Given the description of an element on the screen output the (x, y) to click on. 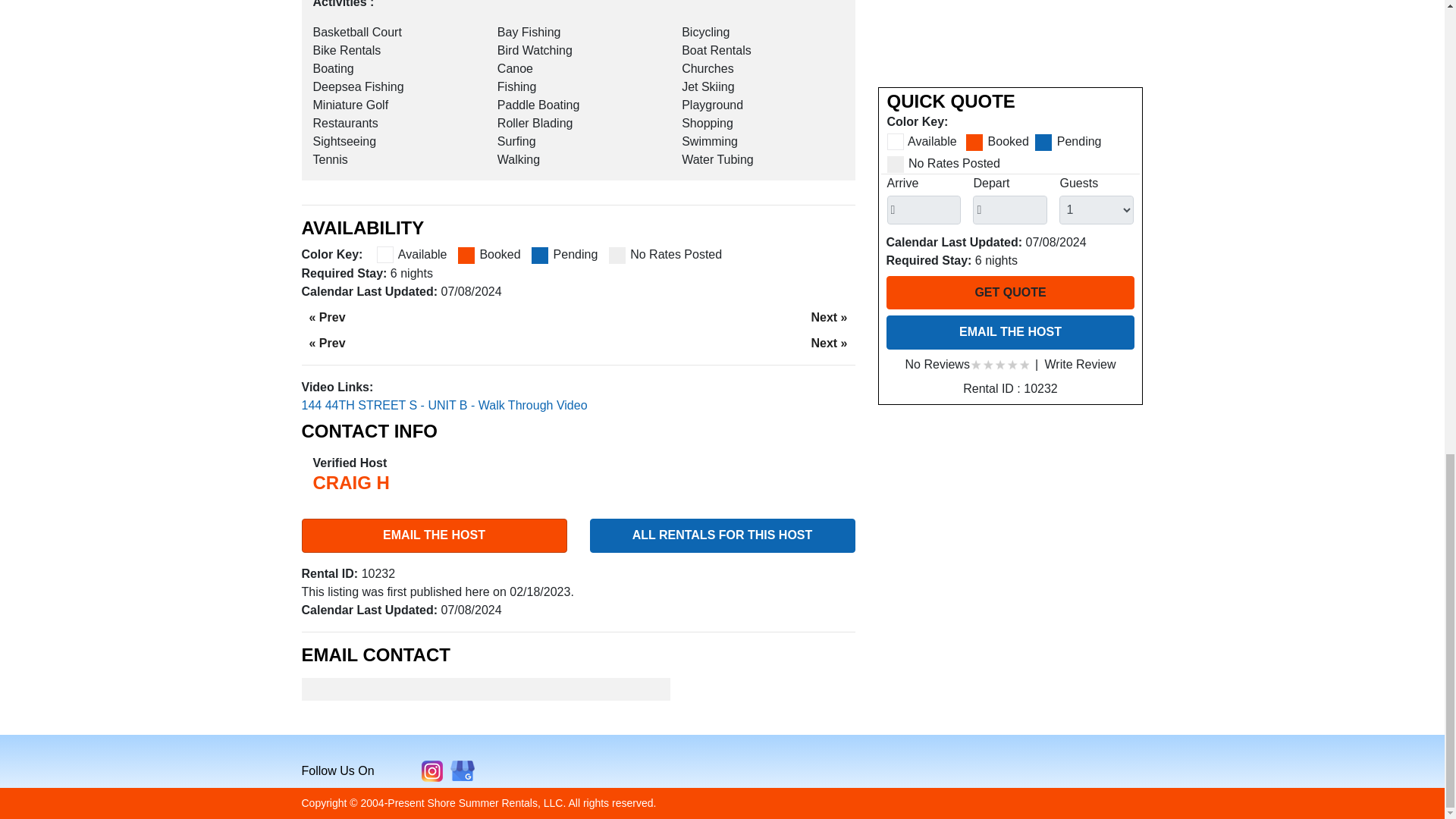
144 44TH STREET S - UNIT B - Walk Through Video (444, 404)
ALL RENTALS FOR THIS HOST (722, 535)
EMAIL THE HOST (434, 535)
